Given the description of an element on the screen output the (x, y) to click on. 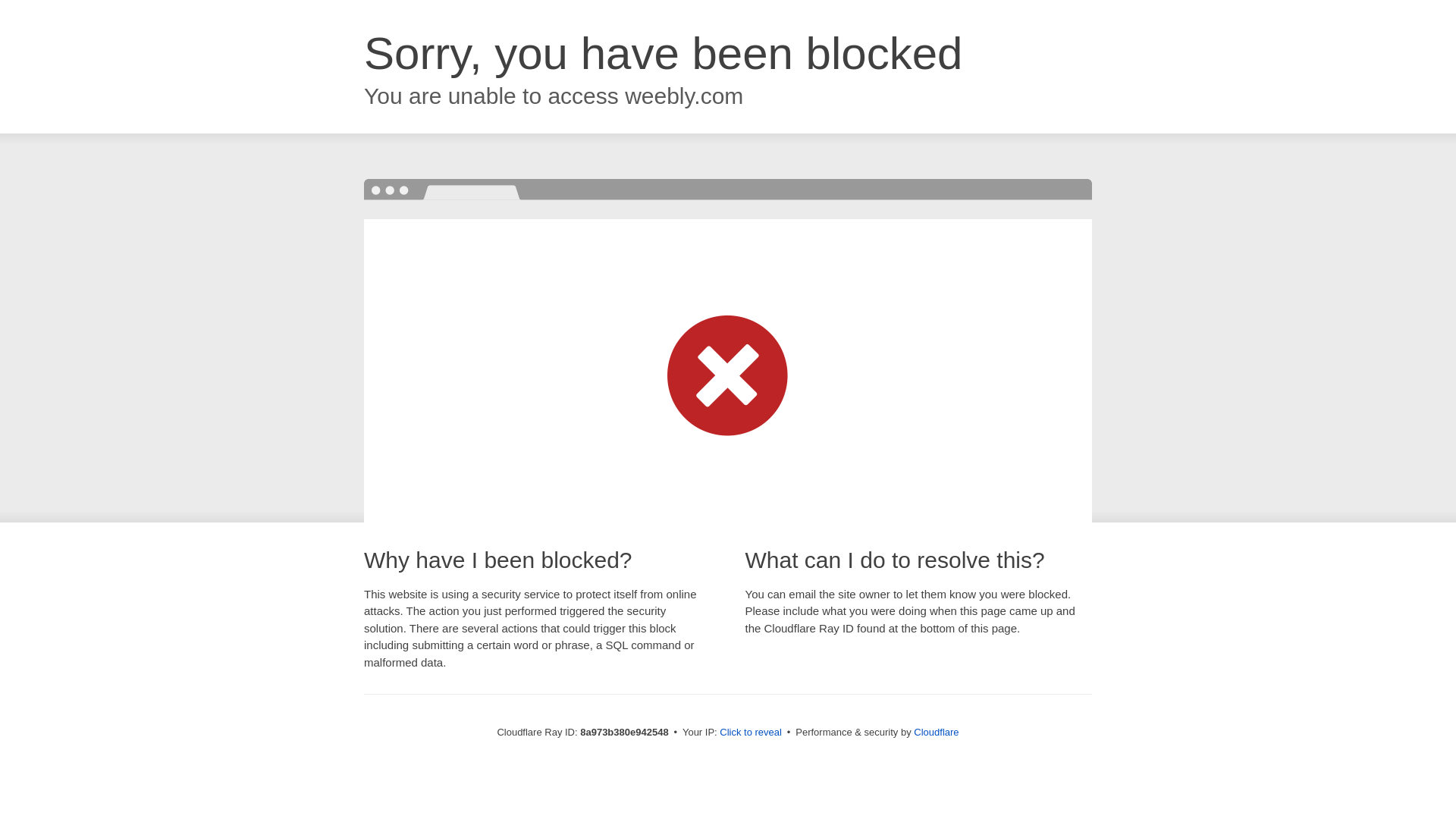
Click to reveal (750, 732)
Cloudflare (936, 731)
